Given the description of an element on the screen output the (x, y) to click on. 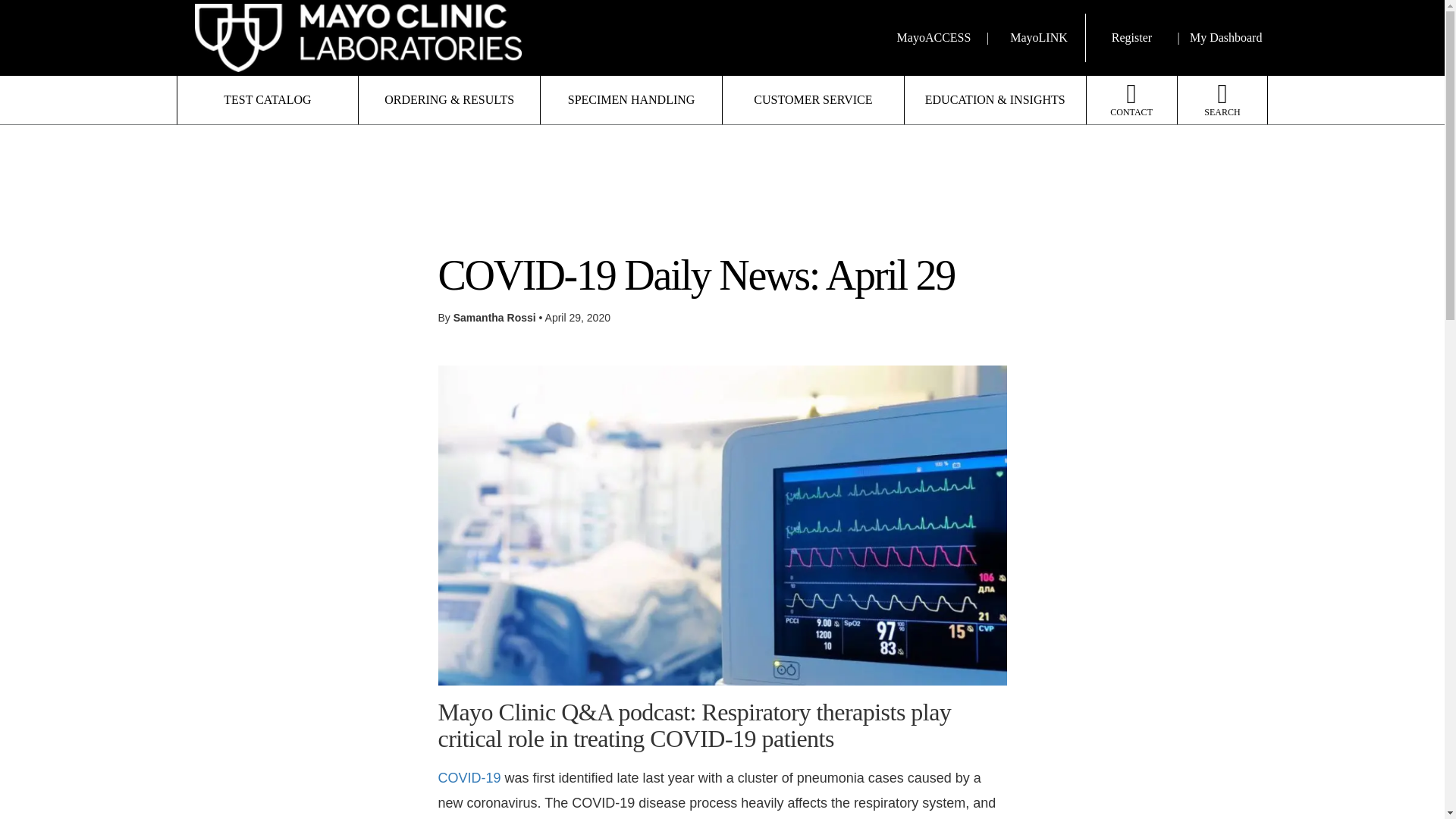
My Dashboard (1225, 37)
TEST CATALOG (267, 100)
Register (1130, 37)
MayoACCESS (931, 37)
MayoLINK (1038, 37)
